Given the description of an element on the screen output the (x, y) to click on. 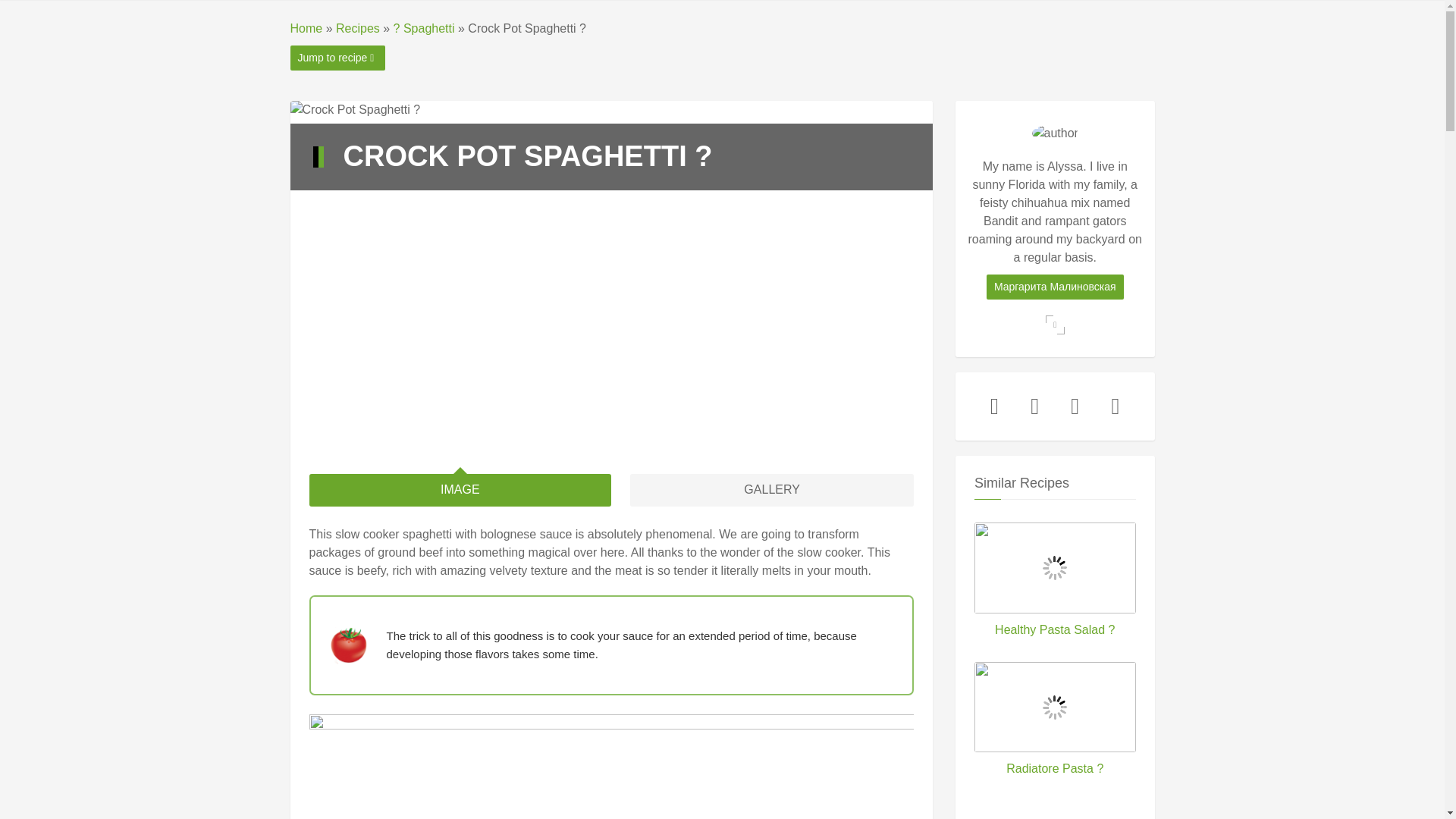
GALLERY (772, 490)
Jump to recipe (337, 57)
Recipes (358, 28)
IMAGE (459, 490)
? Spaghetti (423, 28)
Home (305, 28)
